Given the description of an element on the screen output the (x, y) to click on. 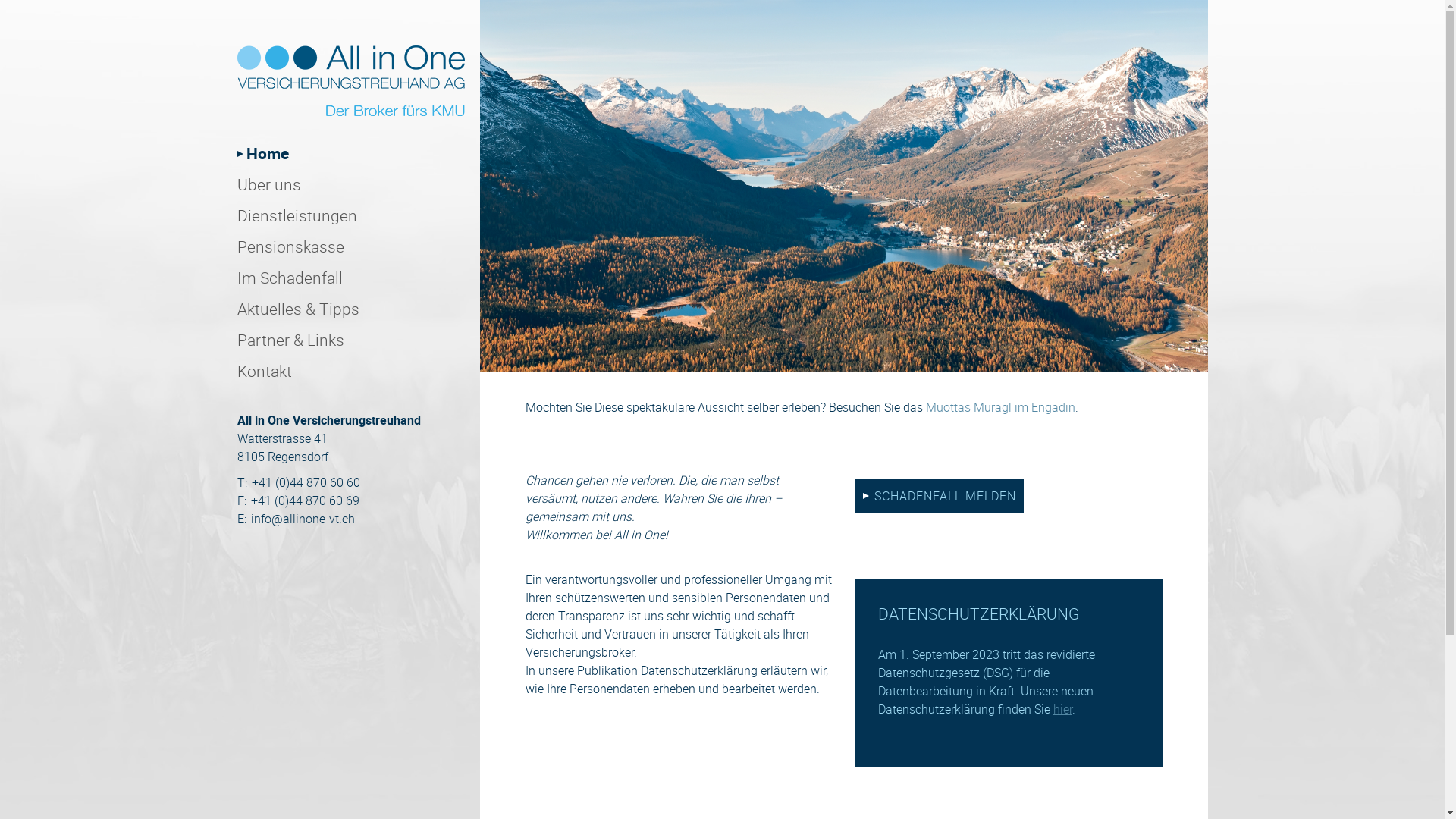
Muottas Muragl im Engadin Element type: text (999, 406)
Aktuelles & Tipps Element type: text (297, 308)
info@allinone-vt.ch Element type: text (302, 518)
Herbst Element type: hover (843, 185)
Home Element type: text (262, 152)
Dienstleistungen Element type: text (296, 214)
Partner & Links Element type: text (289, 339)
Pensionskasse Element type: text (289, 246)
+41 (0)44 870 60 60 Element type: text (305, 481)
Kontakt Element type: text (263, 370)
hier Element type: text (1061, 708)
Im Schadenfall Element type: text (289, 277)
SCHADENFALL MELDEN Element type: text (939, 496)
+41 (0)44 870 60 69 Element type: text (304, 500)
